Given the description of an element on the screen output the (x, y) to click on. 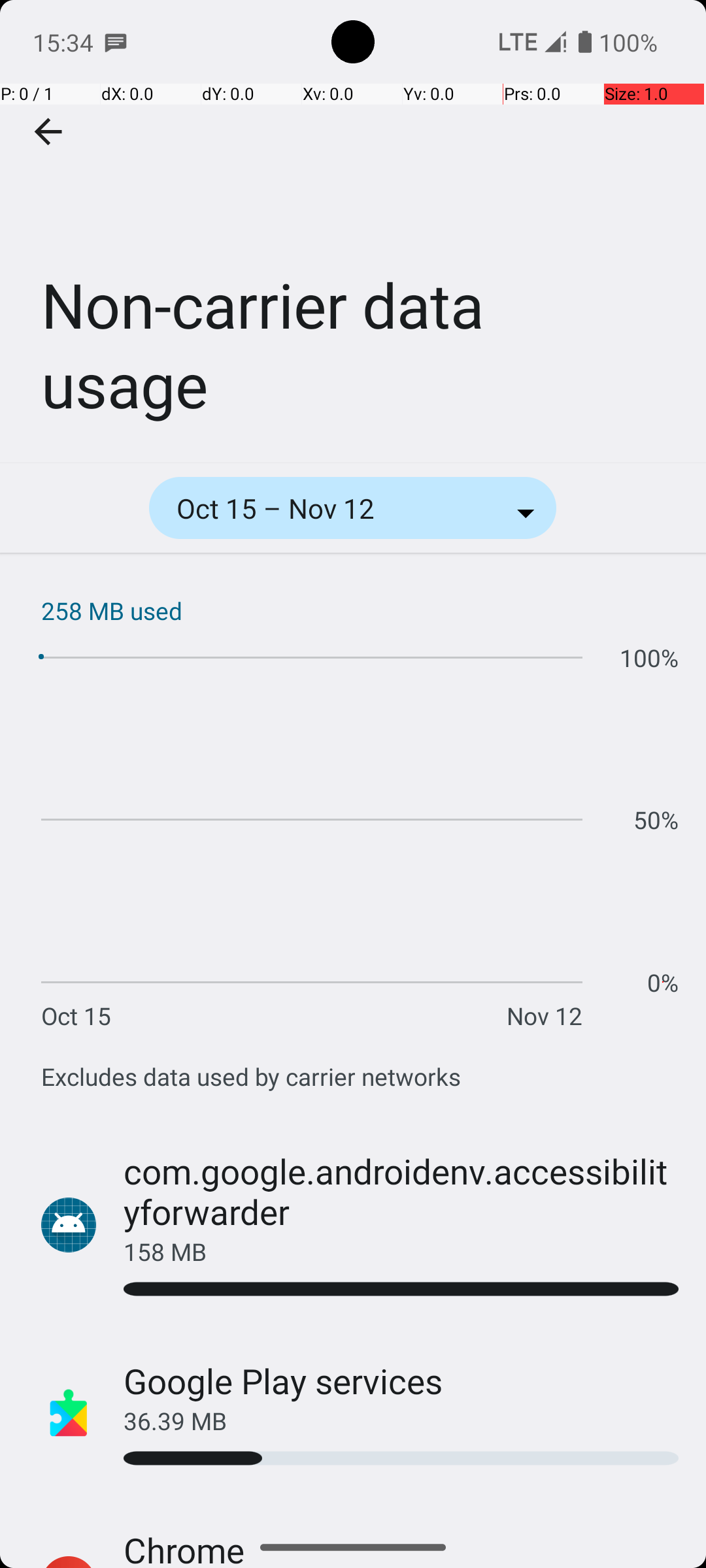
Non-carrier data usage Element type: android.widget.FrameLayout (353, 231)
Oct 15 – Nov 12 Element type: android.widget.TextView (292, 507)
258 MB used Element type: android.widget.TextView (359, 610)
Graph showing data usage between Oct 15 and Nov 12.;Oct 15 100% Element type: android.widget.FrameLayout (359, 836)
Excludes data used by carrier networks Element type: android.widget.TextView (251, 1076)
com.google.androidenv.accessibilityforwarder Element type: android.widget.TextView (400, 1190)
158 MB Element type: android.widget.TextView (400, 1251)
Google Play services Element type: android.widget.TextView (283, 1380)
36.39 MB Element type: android.widget.TextView (400, 1420)
23% Element type: android.widget.ProgressBar (400, 1458)
50% Element type: android.widget.TextView (655, 819)
0% Element type: android.widget.TextView (662, 981)
Oct 15 Element type: android.widget.TextView (76, 1015)
Nov 12 Element type: android.widget.TextView (544, 1015)
